Given the description of an element on the screen output the (x, y) to click on. 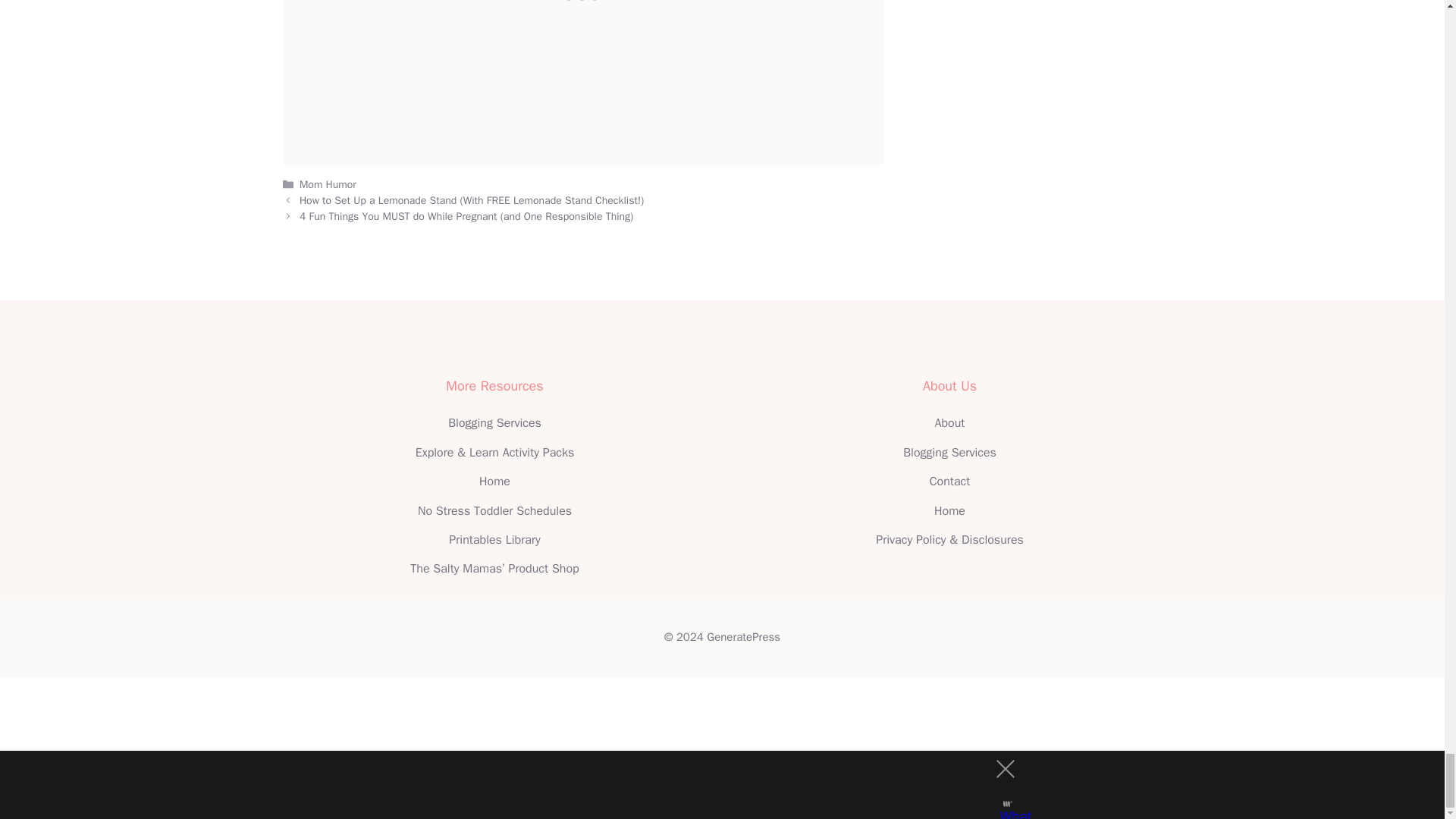
Contact (950, 481)
No Stress Toddler Schedules (494, 510)
Mom Humor (327, 184)
Home (949, 510)
Blogging Services (494, 422)
Blogging Services (948, 452)
Printables Library (494, 539)
About (949, 422)
Home (495, 481)
